Given the description of an element on the screen output the (x, y) to click on. 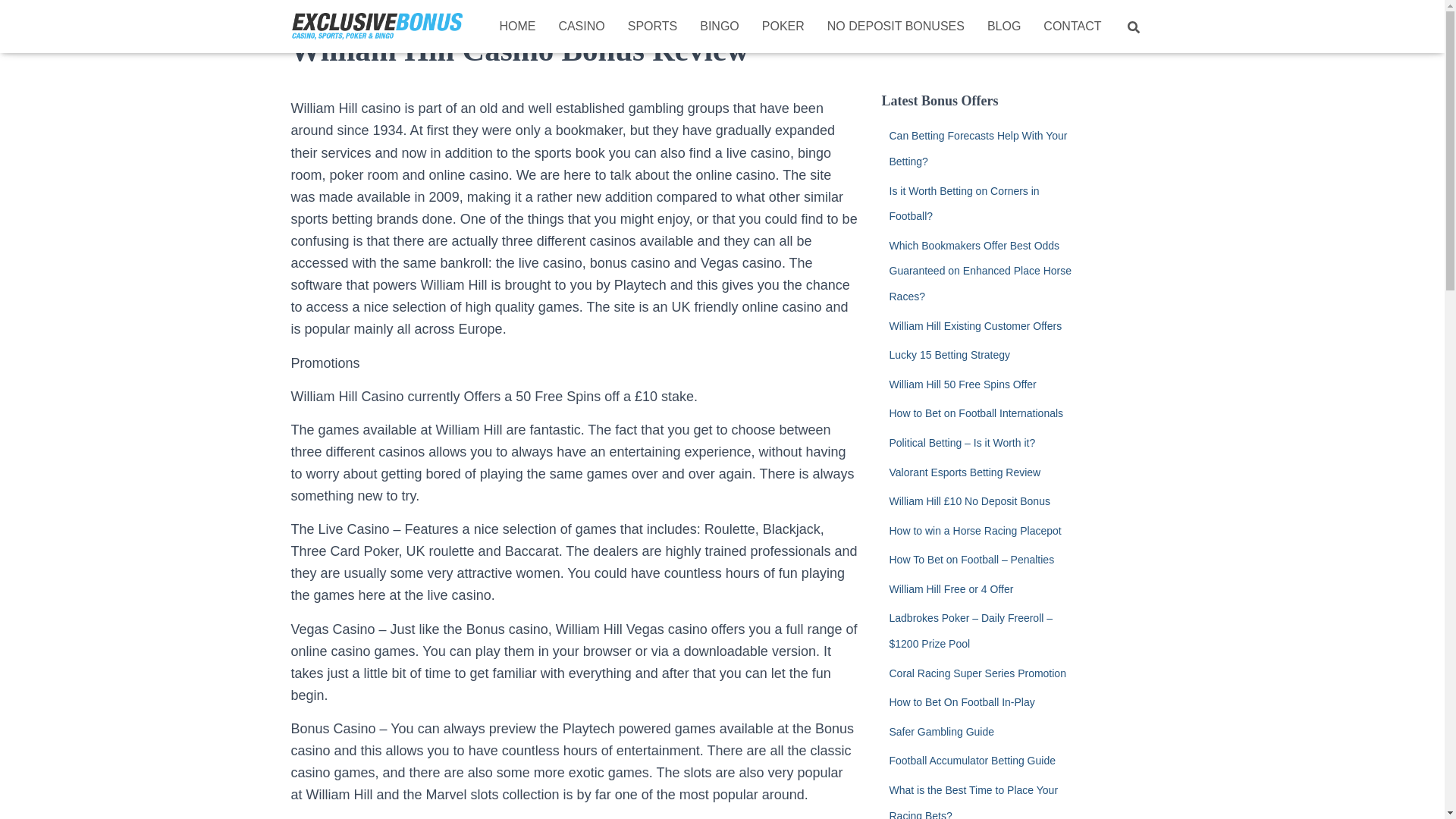
Search (16, 16)
How to win a Horse Racing Placepot (974, 530)
Poker (783, 26)
CONTACT (1072, 26)
William Hill Free or 4 Offer (950, 589)
William Hill Existing Customer Offers (974, 326)
SPORTS (651, 26)
BLOG (1003, 26)
Home (517, 26)
No Deposit Bonuses (895, 26)
